Given the description of an element on the screen output the (x, y) to click on. 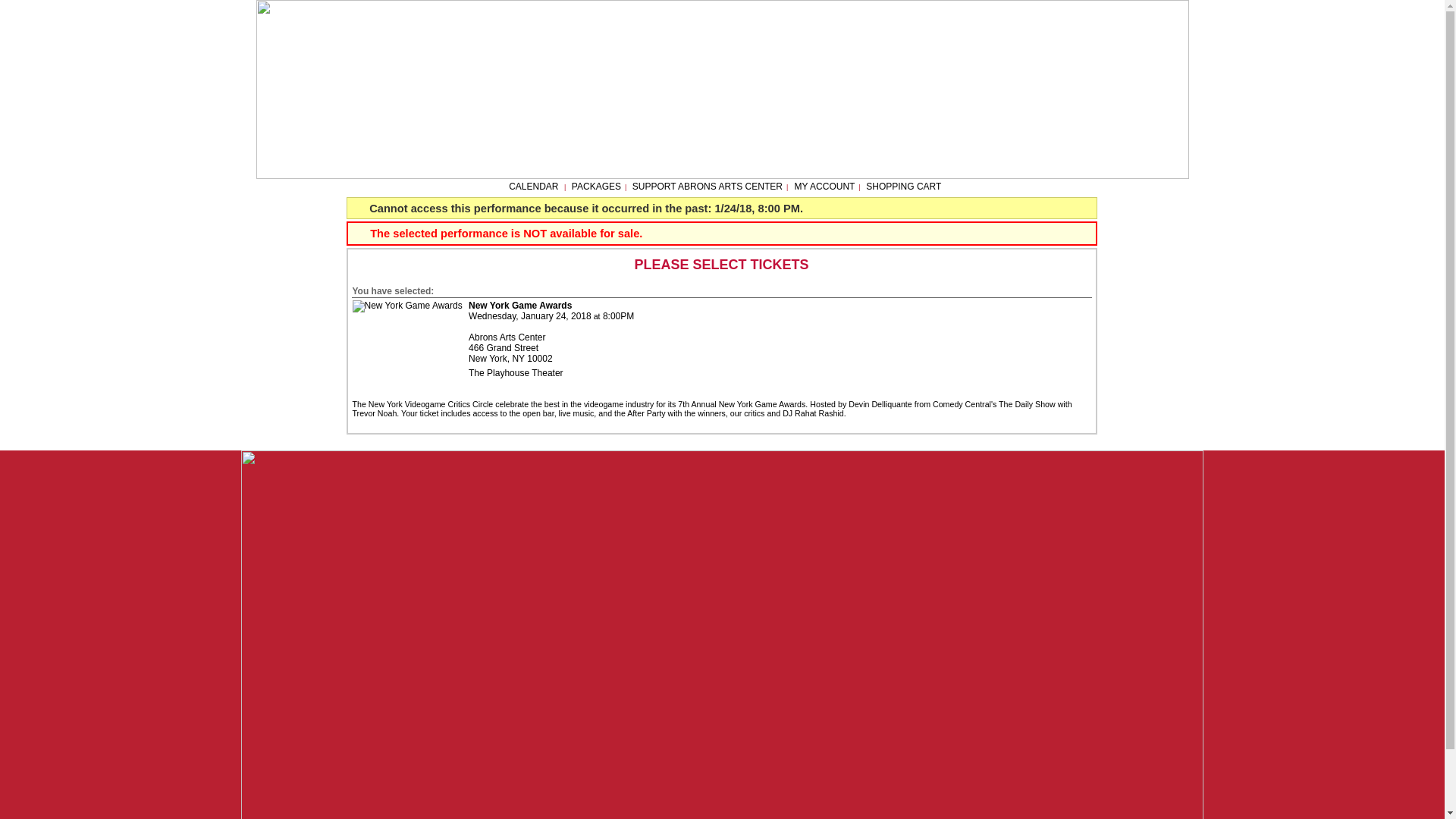
MY ACCOUNT (823, 185)
CALENDAR (532, 185)
SUPPORT ABRONS ARTS CENTER (707, 185)
PACKAGES (596, 185)
SHOPPING CART (903, 185)
